Given the description of an element on the screen output the (x, y) to click on. 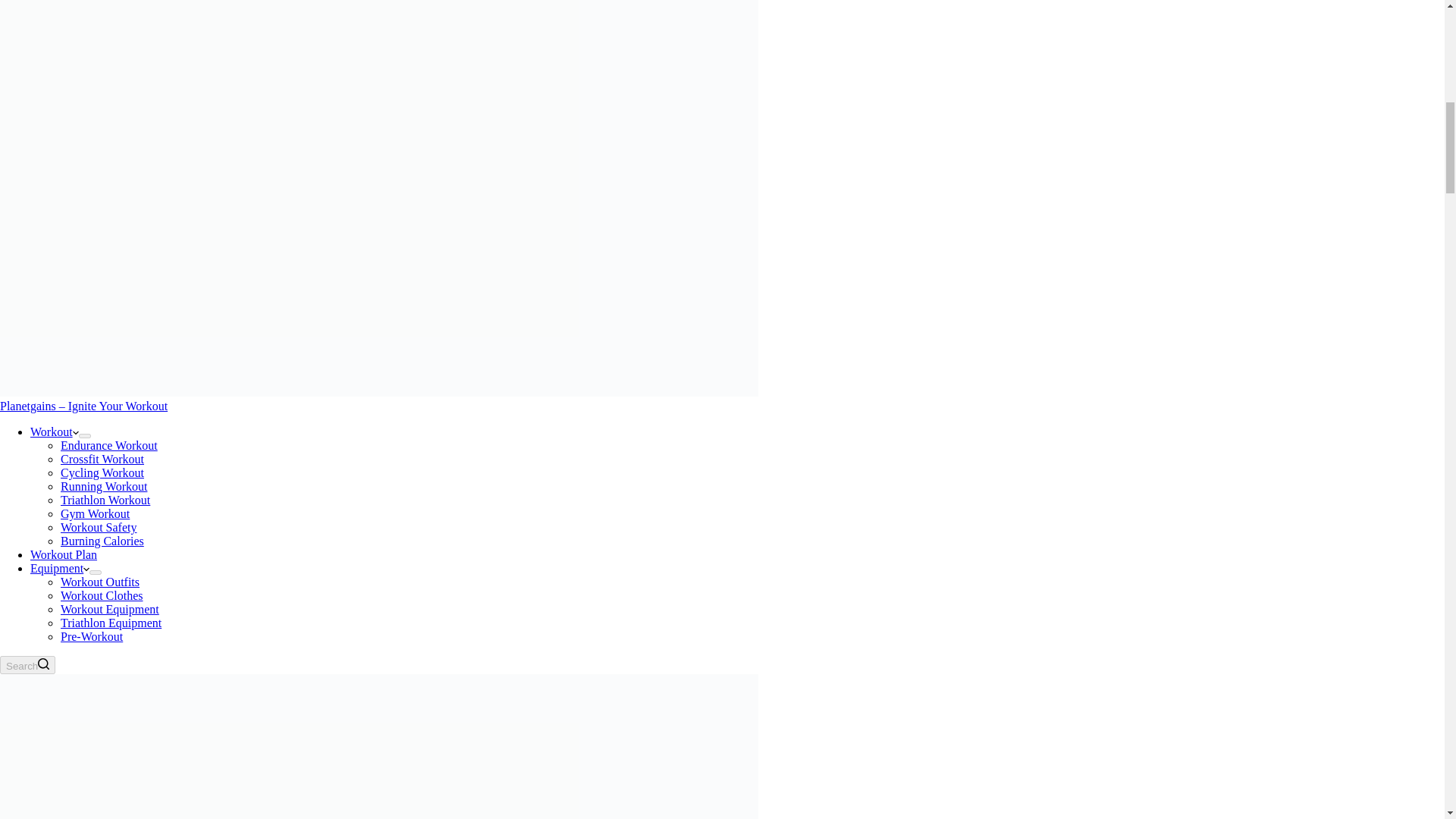
Triathlon Workout (105, 499)
Endurance Workout (109, 445)
Crossfit Workout (102, 459)
Cycling Workout (102, 472)
Workout (54, 431)
Running Workout (104, 486)
